Given the description of an element on the screen output the (x, y) to click on. 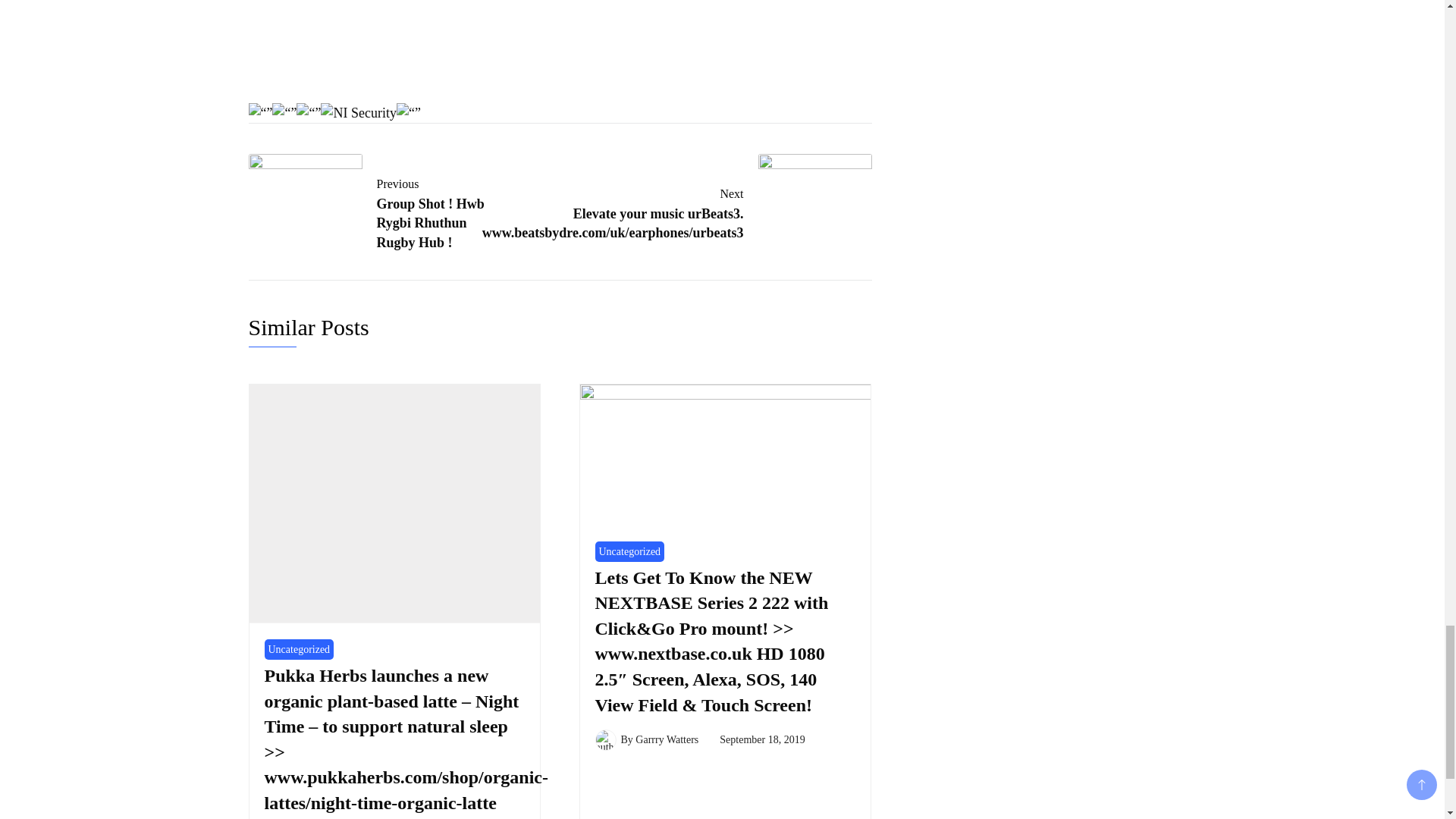
Uncategorized (628, 551)
Uncategorized (298, 649)
Garrry Watters (666, 739)
September 18, 2019 (762, 739)
NI Security (382, 210)
